Given the description of an element on the screen output the (x, y) to click on. 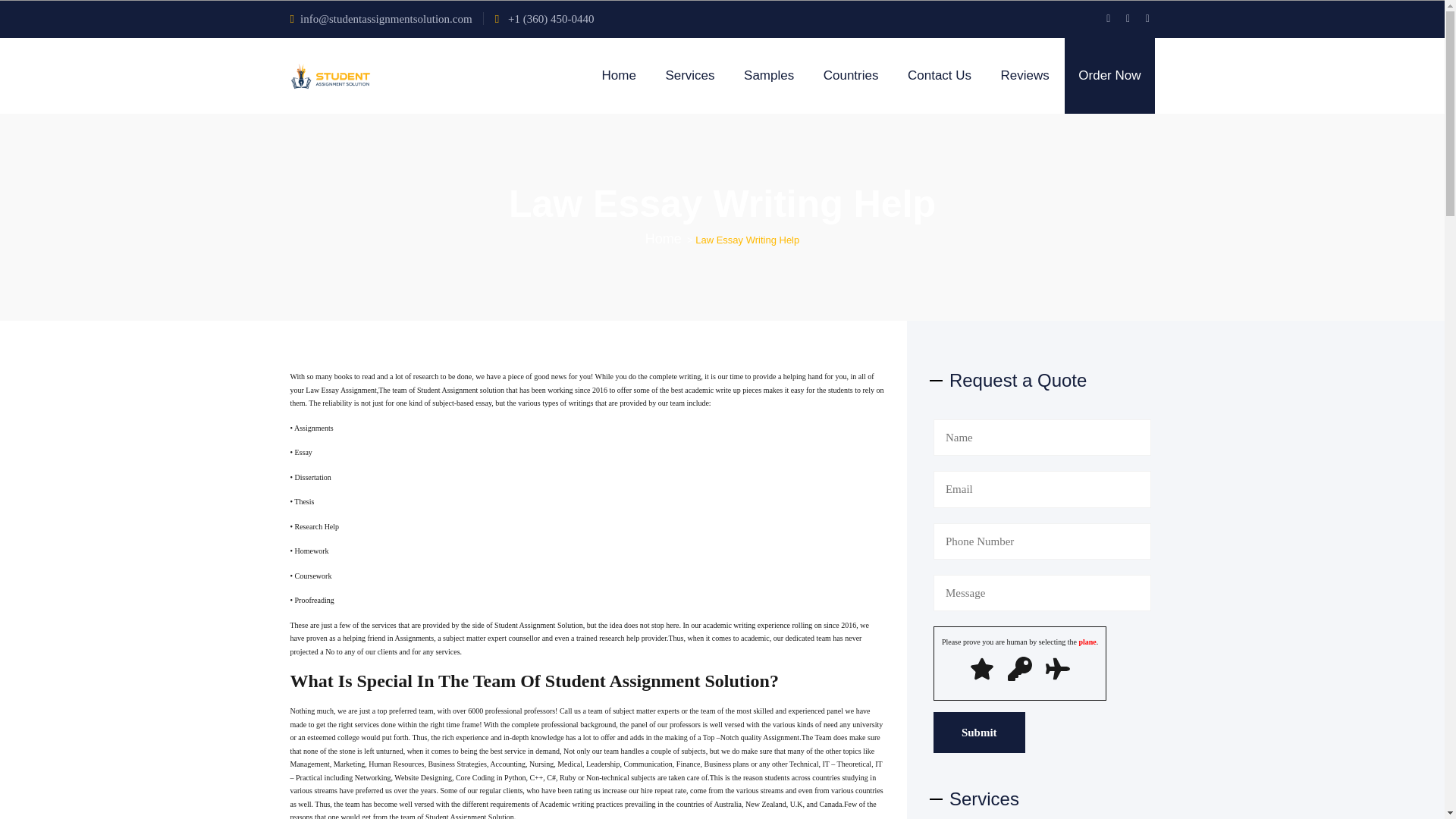
Submit (979, 731)
Countries (850, 75)
Services (689, 75)
Samples (769, 75)
